Given the description of an element on the screen output the (x, y) to click on. 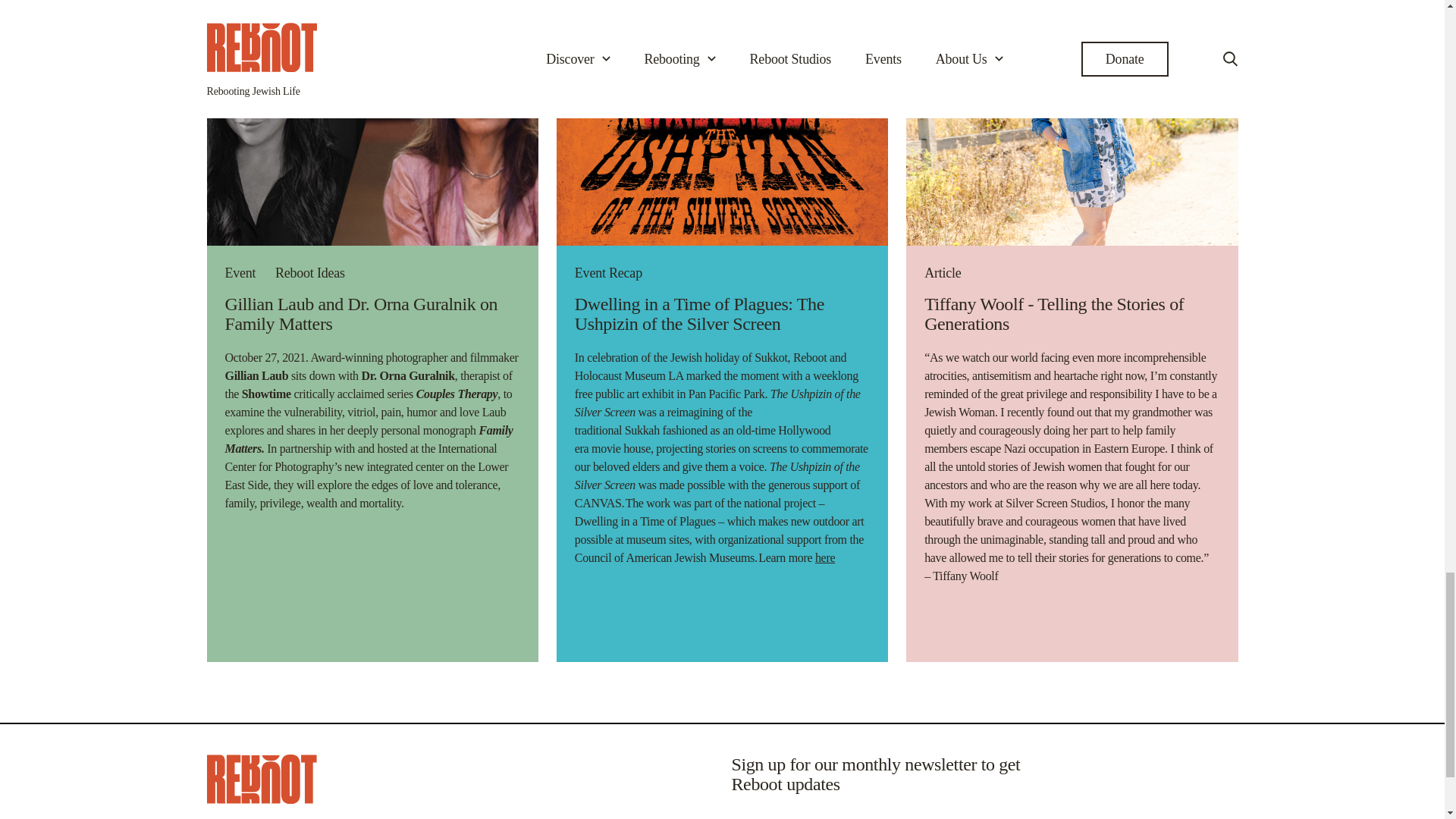
Gillian Laub and Dr. Orna Guralnik on Family Matters (360, 313)
Tiffany Woolf - Telling the Stories of Generations (1053, 313)
